Given the description of an element on the screen output the (x, y) to click on. 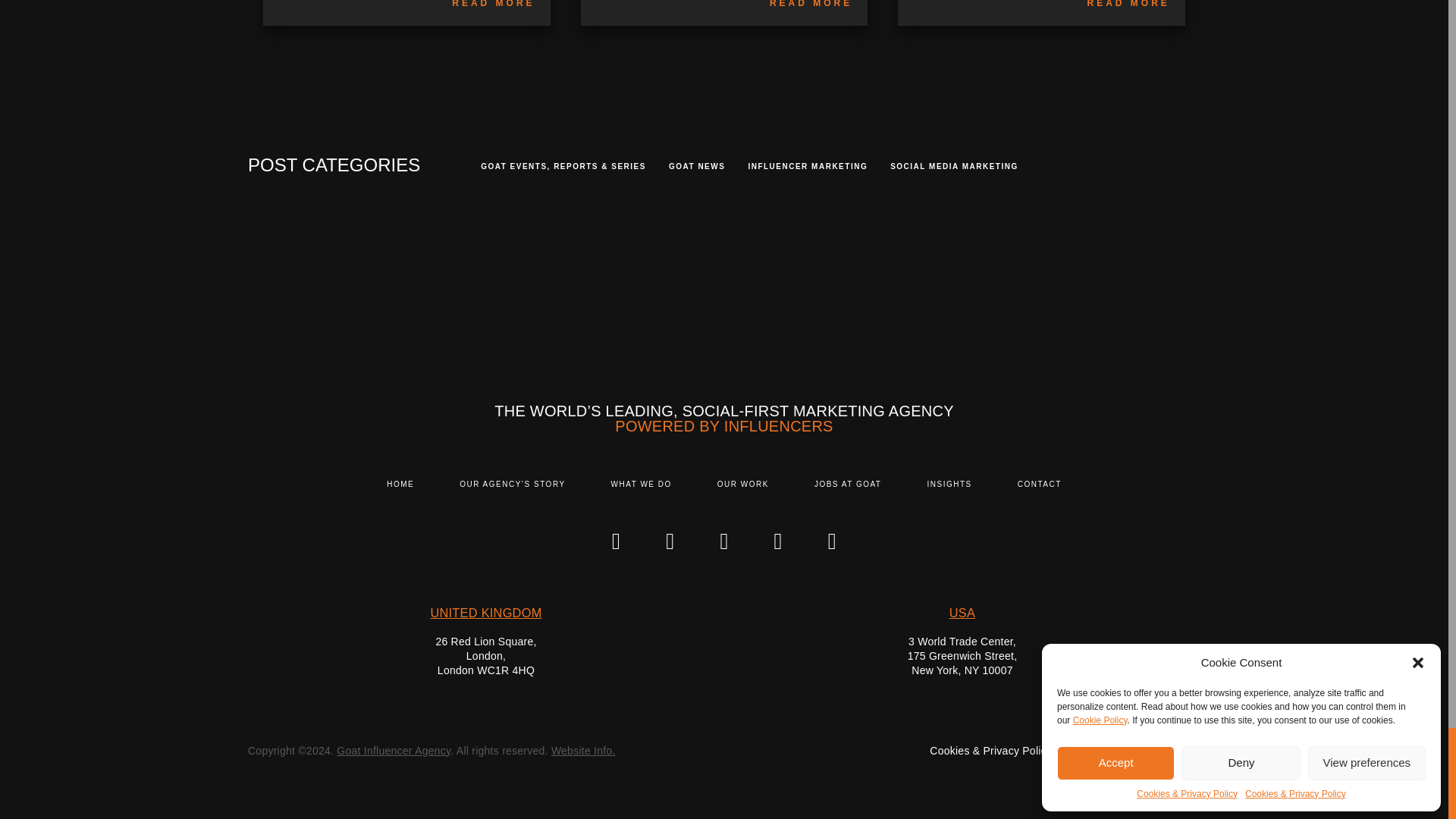
How to use Amazon Live as part of your influencer strategy (492, 4)
READ MORE (492, 4)
